Given the description of an element on the screen output the (x, y) to click on. 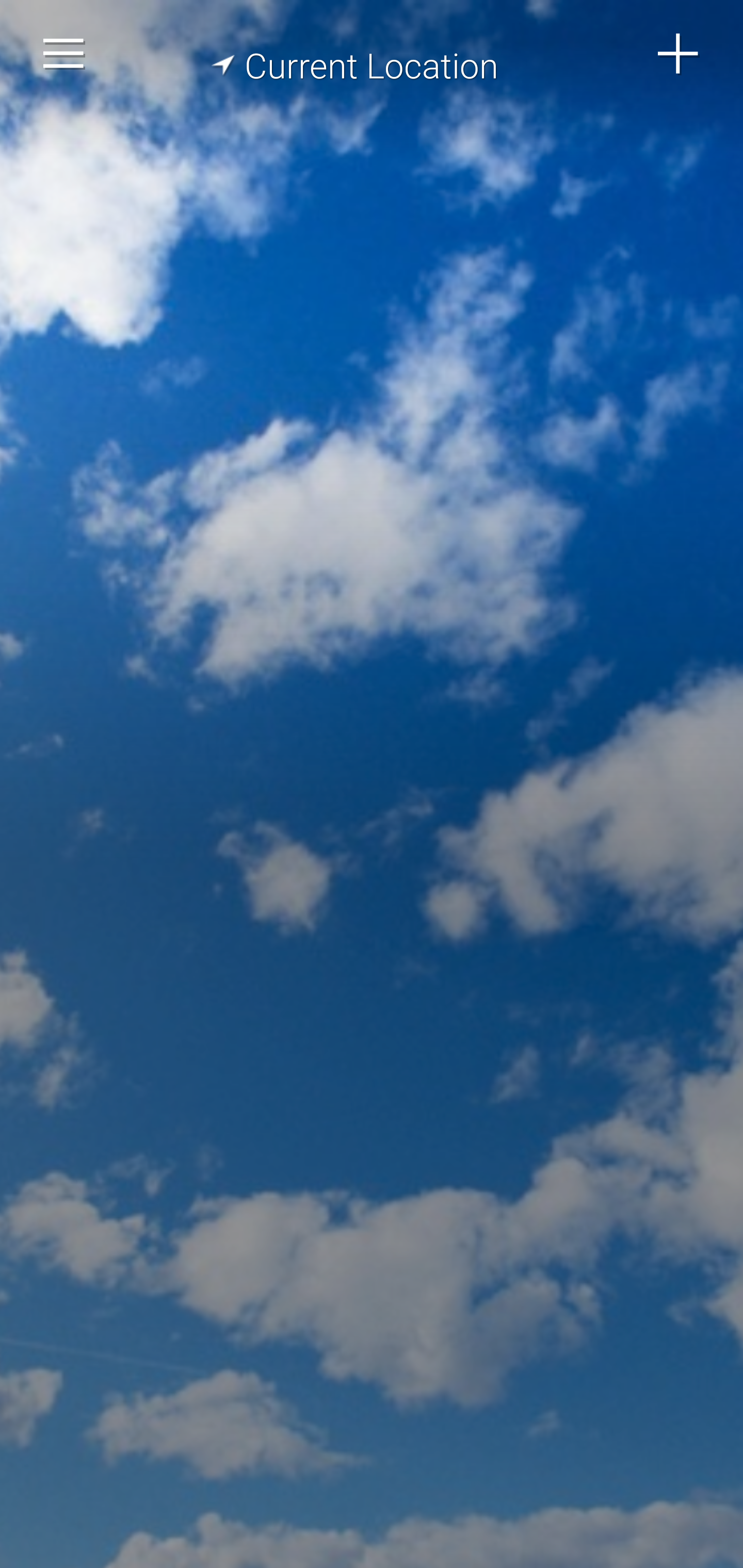
Sidebar (64, 54)
Add City (678, 53)
